Given the description of an element on the screen output the (x, y) to click on. 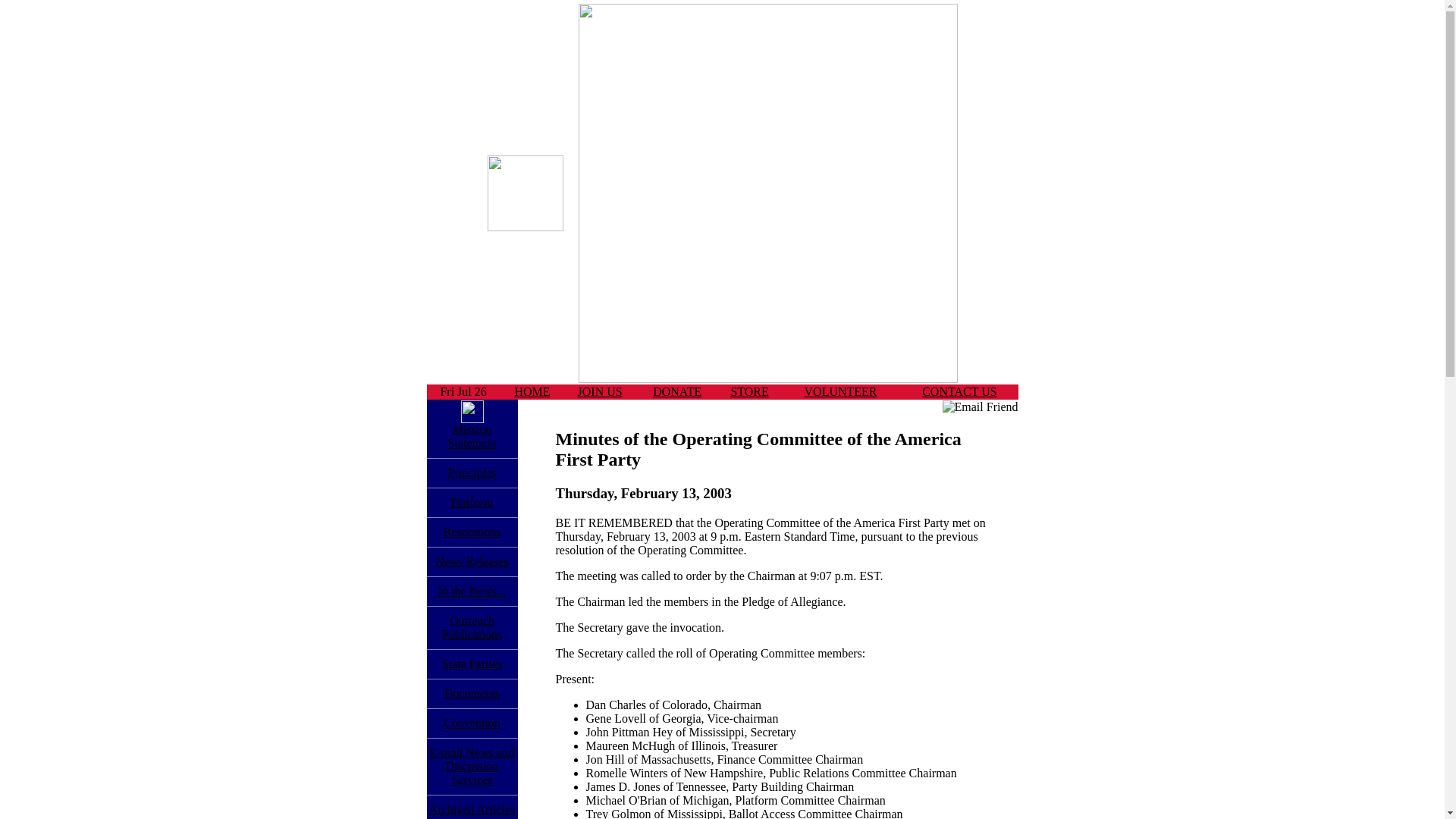
Convention (472, 722)
CONTACT US (958, 391)
Resolutions (472, 531)
VOLUNTEER (471, 436)
JOIN US (841, 391)
Platform (600, 391)
News Releases (471, 502)
STORE (471, 561)
Documents (749, 391)
E-mail News and Discussion Services (471, 693)
State Parties (471, 766)
In the News... (472, 663)
Archived Articles (471, 590)
DONATE (472, 809)
